Given the description of an element on the screen output the (x, y) to click on. 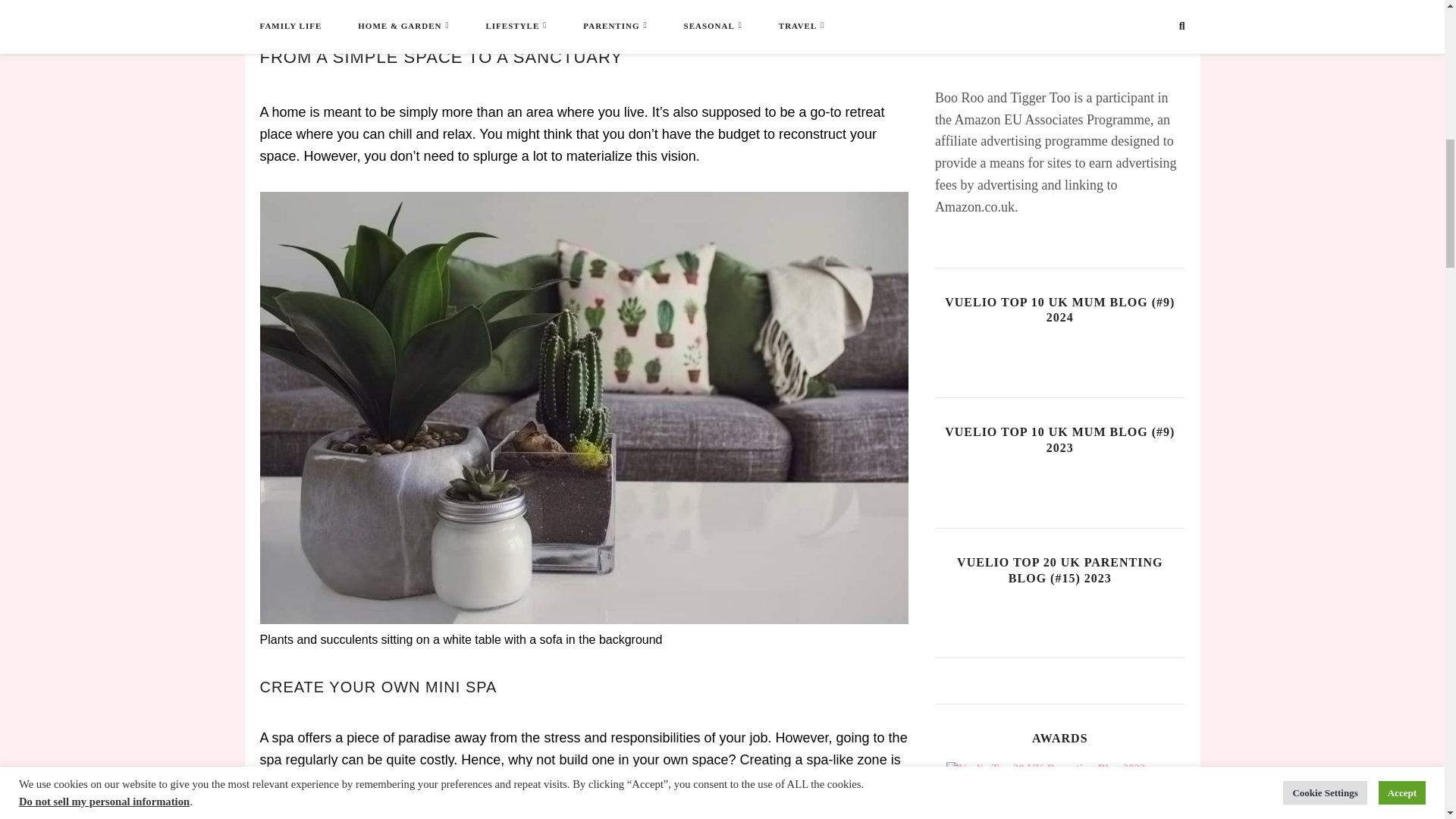
Vuelio Top 10 Badge 2017 (832, 790)
The Takeaway (312, 11)
Vuelio Top 20 UK Parenting Blog 2022 (1059, 790)
Grow Plants (328, 1)
